Given the description of an element on the screen output the (x, y) to click on. 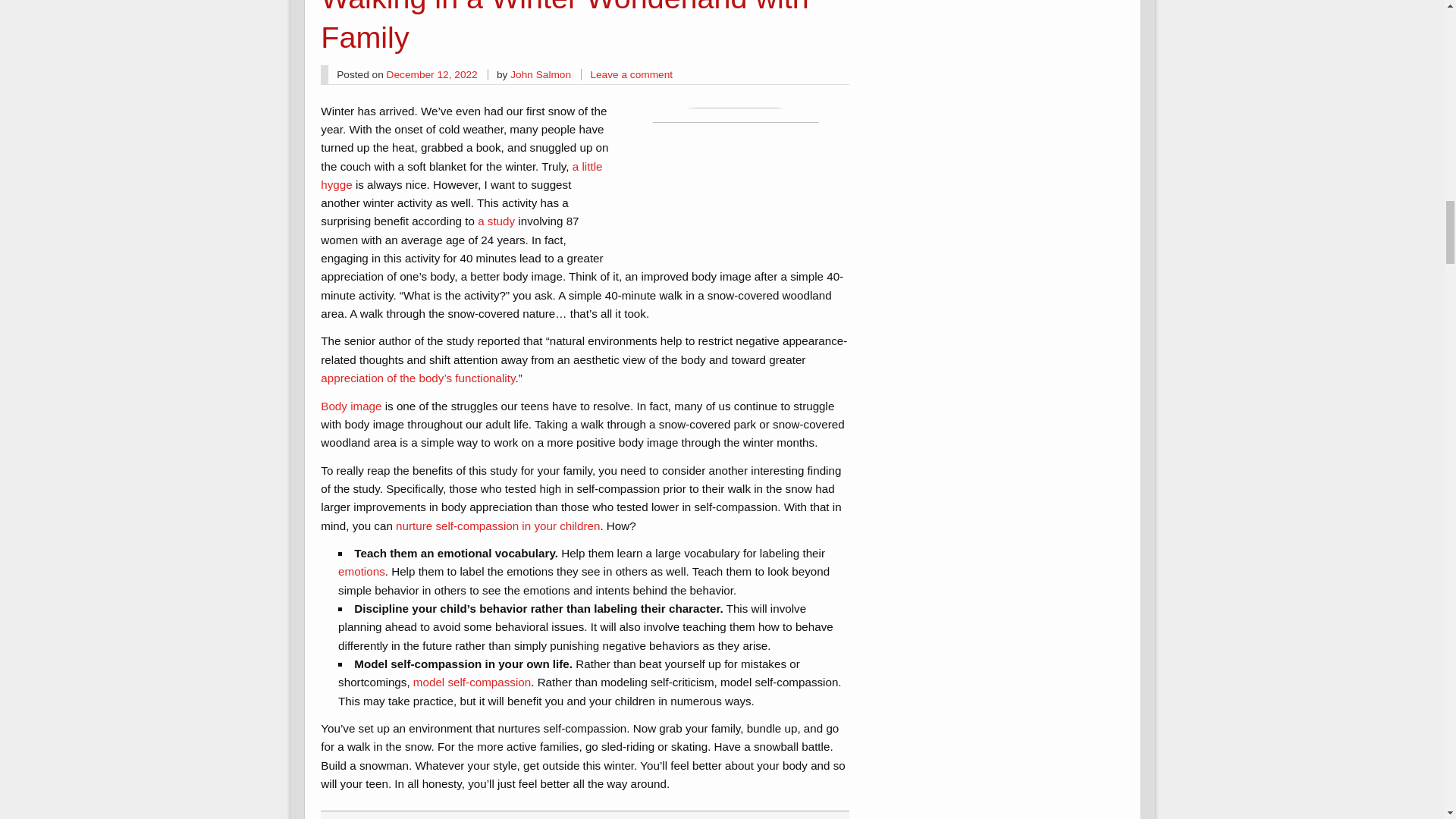
View all posts by John Salmon (540, 74)
7:54 pm (432, 74)
